Given the description of an element on the screen output the (x, y) to click on. 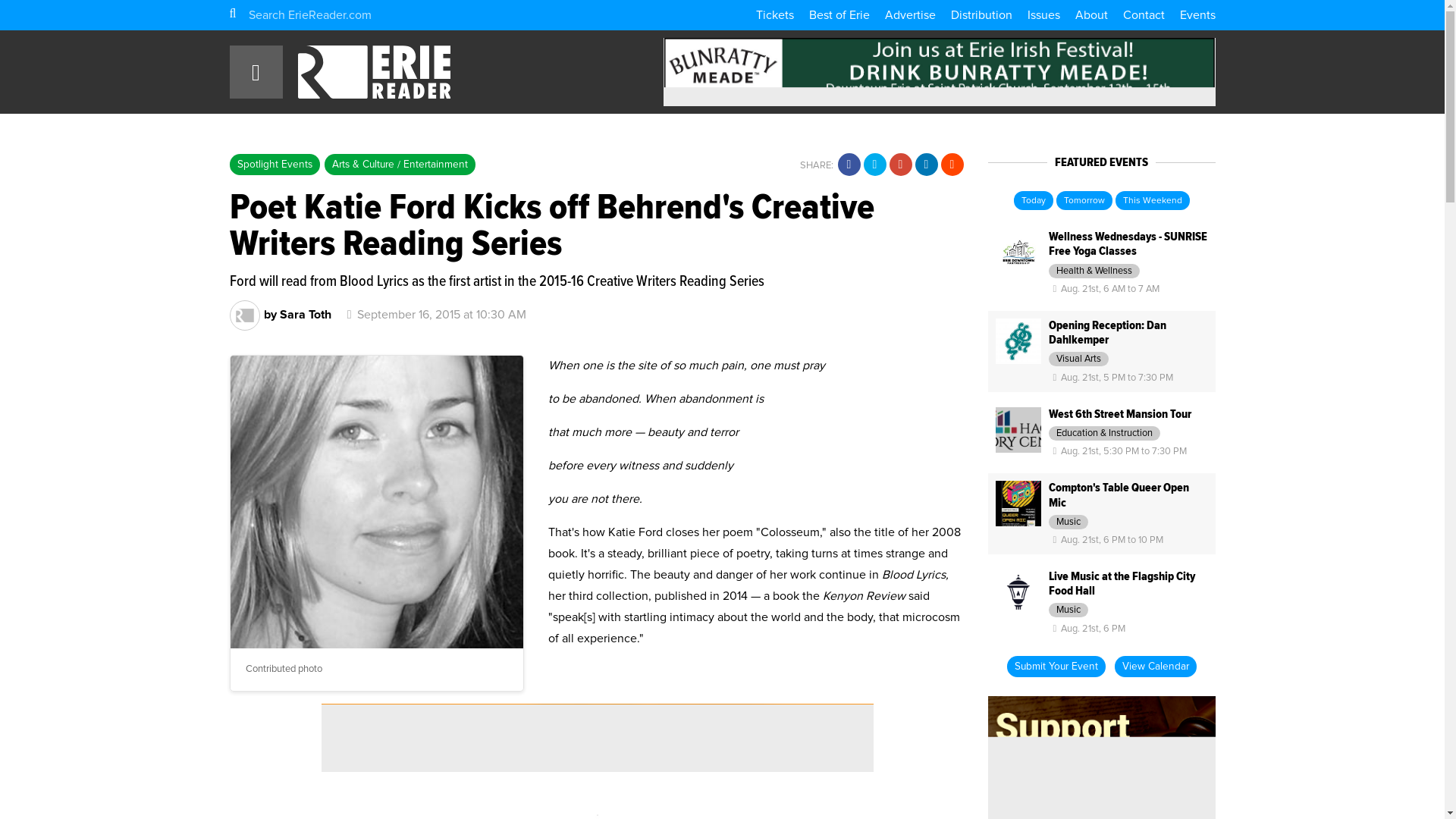
Share on Reddit (951, 164)
Distribution (980, 15)
Advertise (908, 15)
Events (1197, 15)
Issues (1042, 15)
About (1091, 15)
Tickets (774, 15)
Best of Erie (838, 15)
Share on Twitter (874, 164)
Contact (1142, 15)
